Given the description of an element on the screen output the (x, y) to click on. 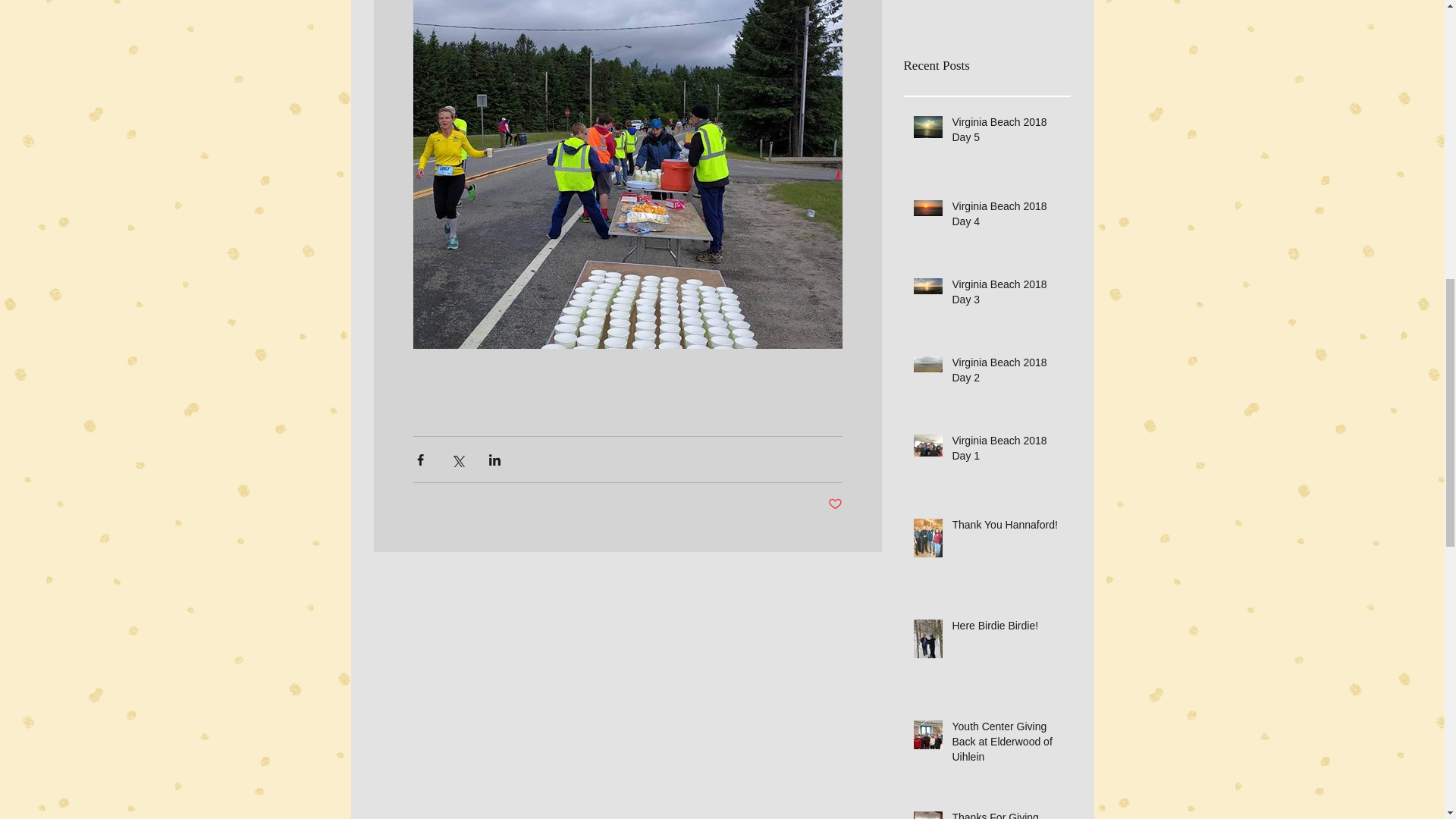
Here Birdie Birdie! (1006, 629)
Thanks For Giving Dinner 2017 (1006, 814)
Post not marked as liked (835, 504)
Virginia Beach 2018 Day 4 (1006, 217)
Thank You Hannaford! (1006, 527)
Virginia Beach 2018 Day 3 (1006, 294)
Virginia Beach 2018 Day 1 (1006, 451)
Youth Center Giving Back at Elderwood of Uihlein (1006, 744)
Virginia Beach 2018 Day 2 (1006, 373)
Virginia Beach 2018 Day 5 (1006, 132)
